Given the description of an element on the screen output the (x, y) to click on. 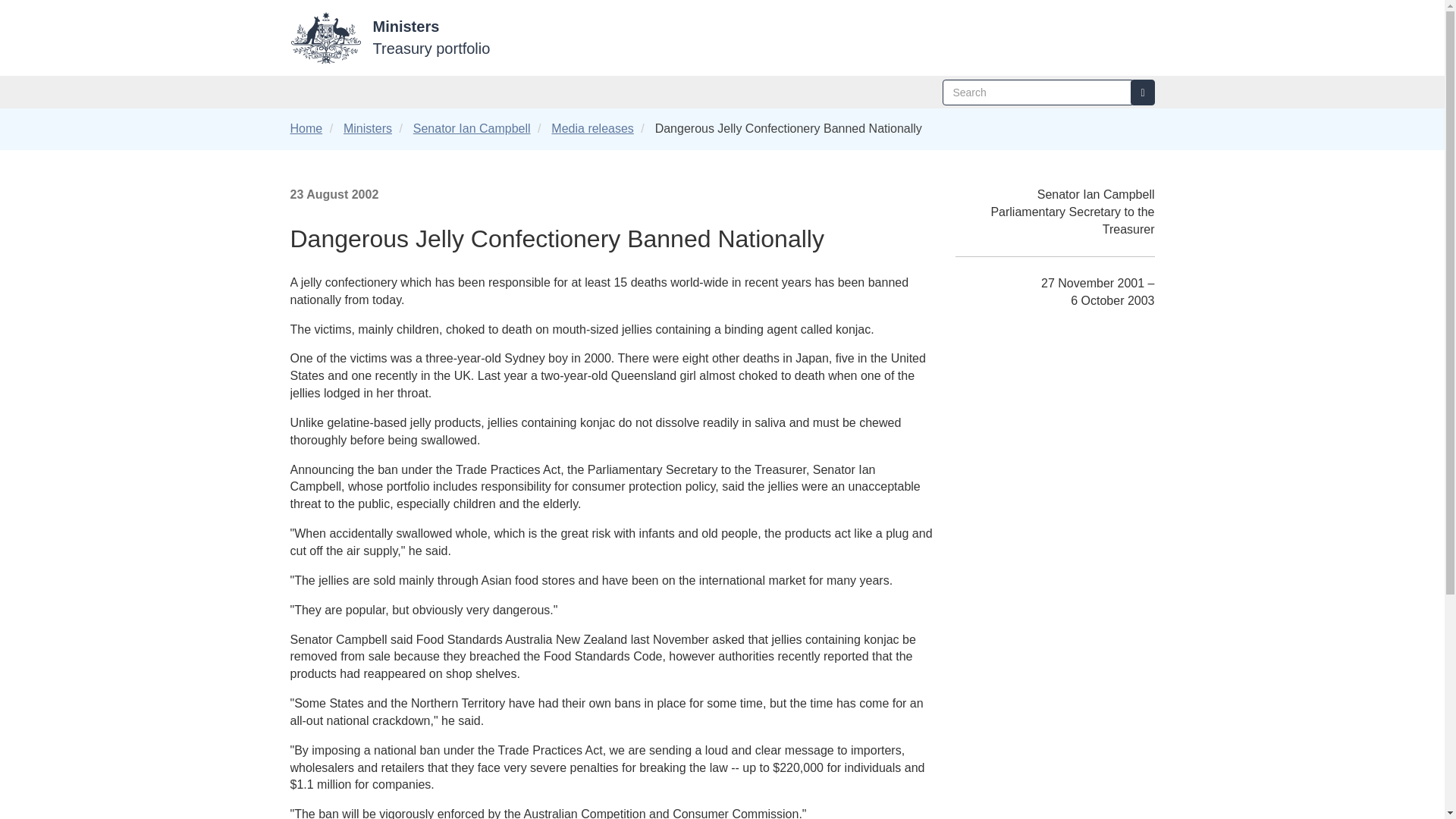
Ministers (367, 128)
Media releases (592, 128)
Search (1142, 92)
Home (305, 128)
Senator Ian Campbell (472, 128)
